Given the description of an element on the screen output the (x, y) to click on. 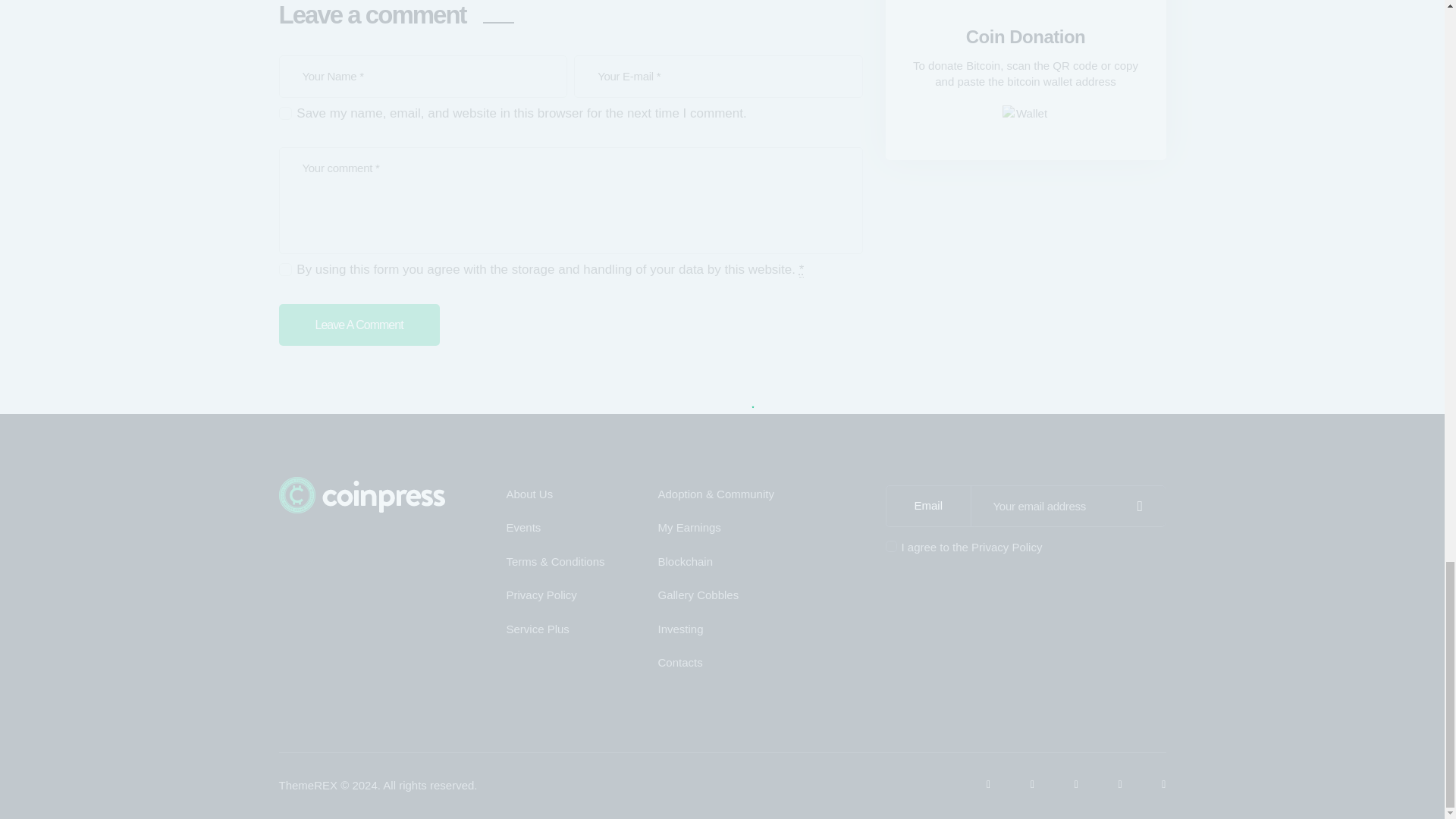
Leave a comment (359, 324)
